Given the description of an element on the screen output the (x, y) to click on. 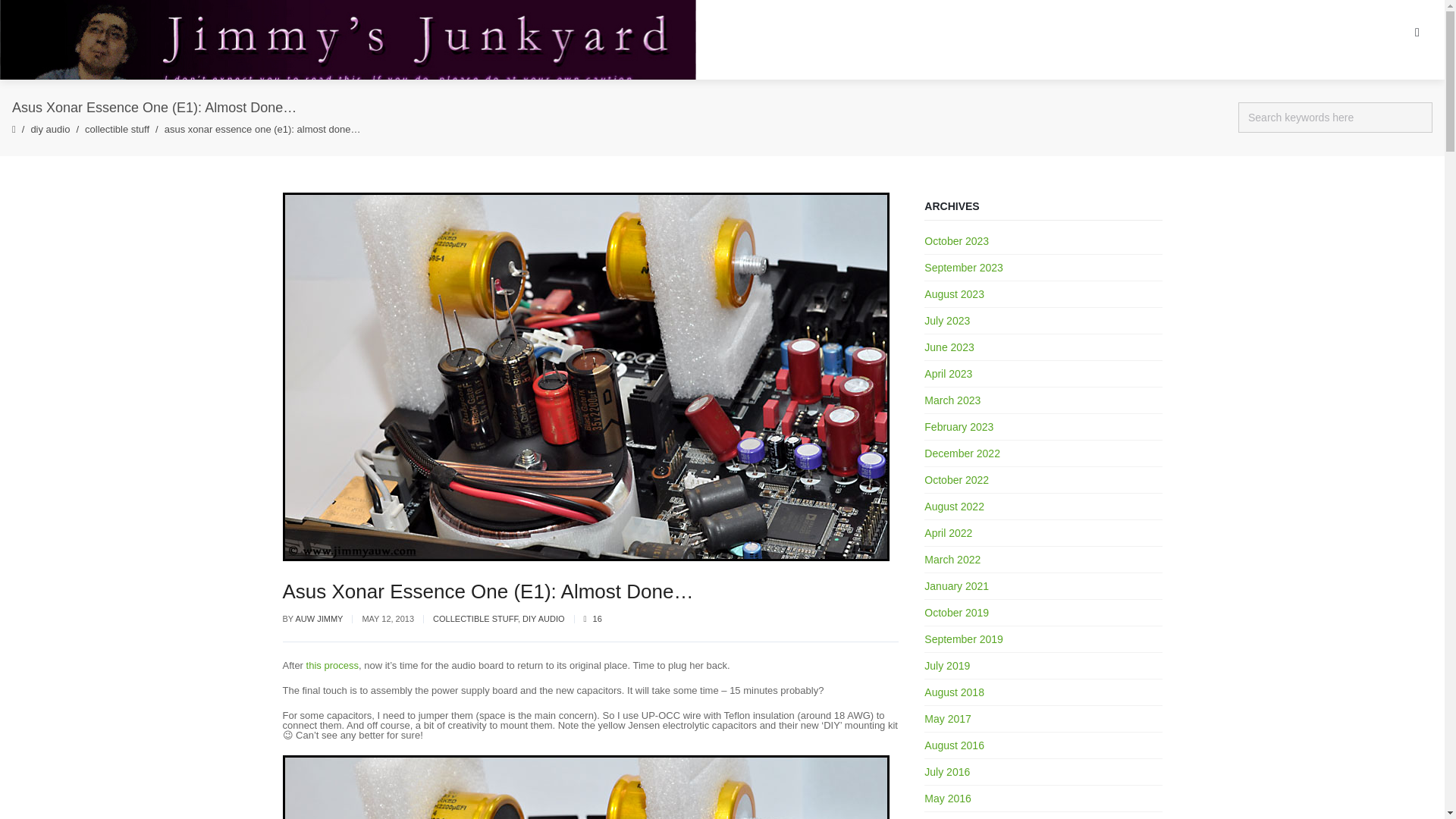
collectible stuff (116, 129)
COLLECTIBLE STUFF (475, 618)
diy audio (49, 129)
View all posts in DIY Audio (543, 618)
AUW JIMMY (318, 618)
Posts by Auw Jimmy (318, 618)
Search keywords here (1335, 117)
this process (331, 665)
DIY Audio (49, 129)
DIY AUDIO (543, 618)
Collectible Stuff (116, 129)
View all posts in Collectible Stuff (475, 618)
16 (592, 618)
